Given the description of an element on the screen output the (x, y) to click on. 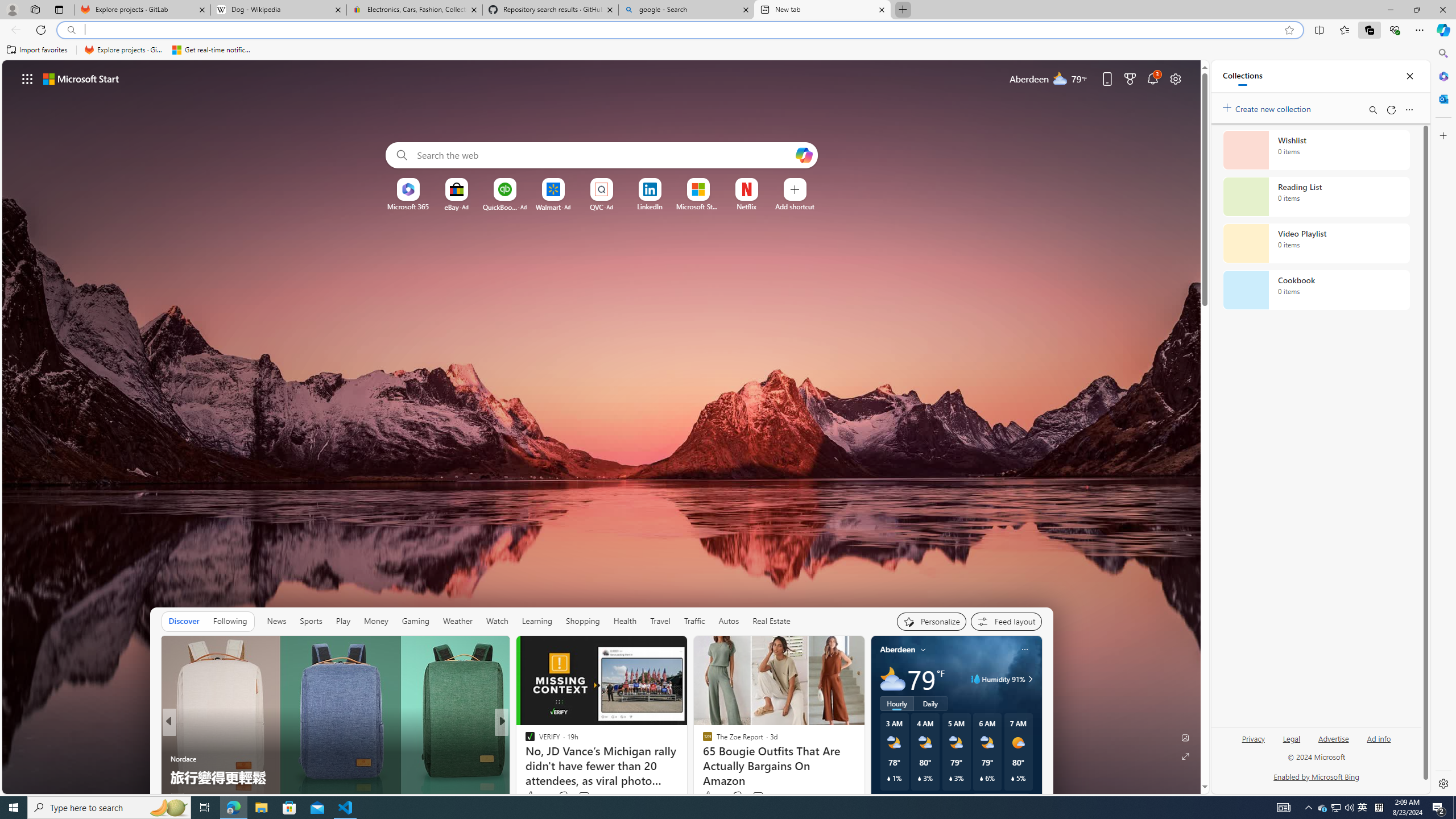
Mostly cloudy (892, 678)
Search icon (70, 29)
Weather (457, 621)
Travel (660, 621)
Class: weather-current-precipitation-glyph (1012, 778)
Money (376, 621)
Deadline (174, 740)
Wishlist collection, 0 items (1316, 150)
MetroOpinion (541, 758)
Sports (310, 621)
USA TODAY (524, 740)
